Given the description of an element on the screen output the (x, y) to click on. 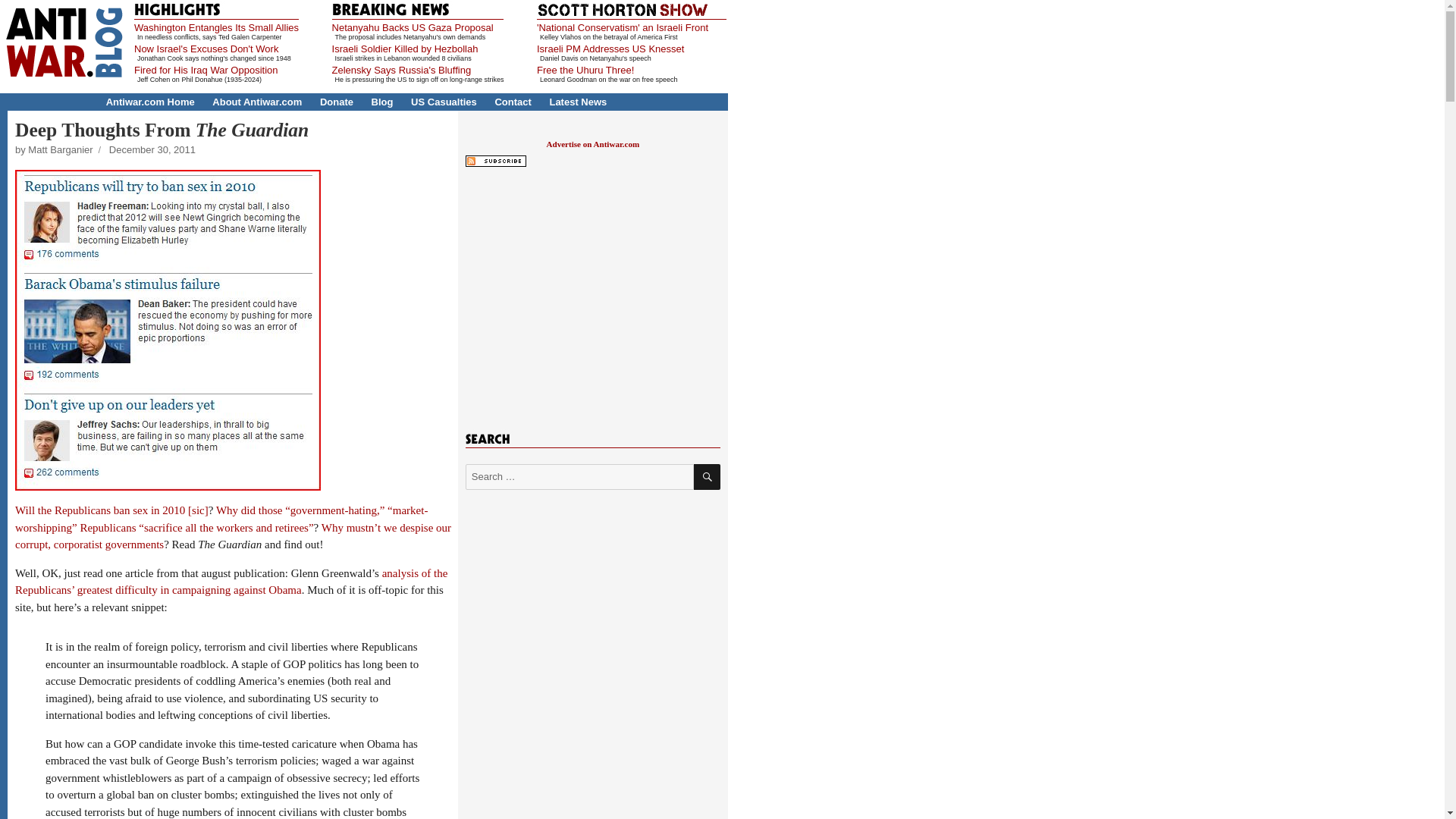
3rd party ad content (592, 293)
Free the Uhuru Three! (585, 70)
Blog (382, 101)
Zelensky Says Russia's Bluffing (401, 70)
Now Israel's Excuses Don't Work (205, 48)
Latest News (577, 101)
Fired for His Iraq War Opposition (205, 70)
Israeli Soldier Killed by Hezbollah (405, 48)
Washington Entangles Its Small Allies (215, 27)
Contact (513, 101)
